Given the description of an element on the screen output the (x, y) to click on. 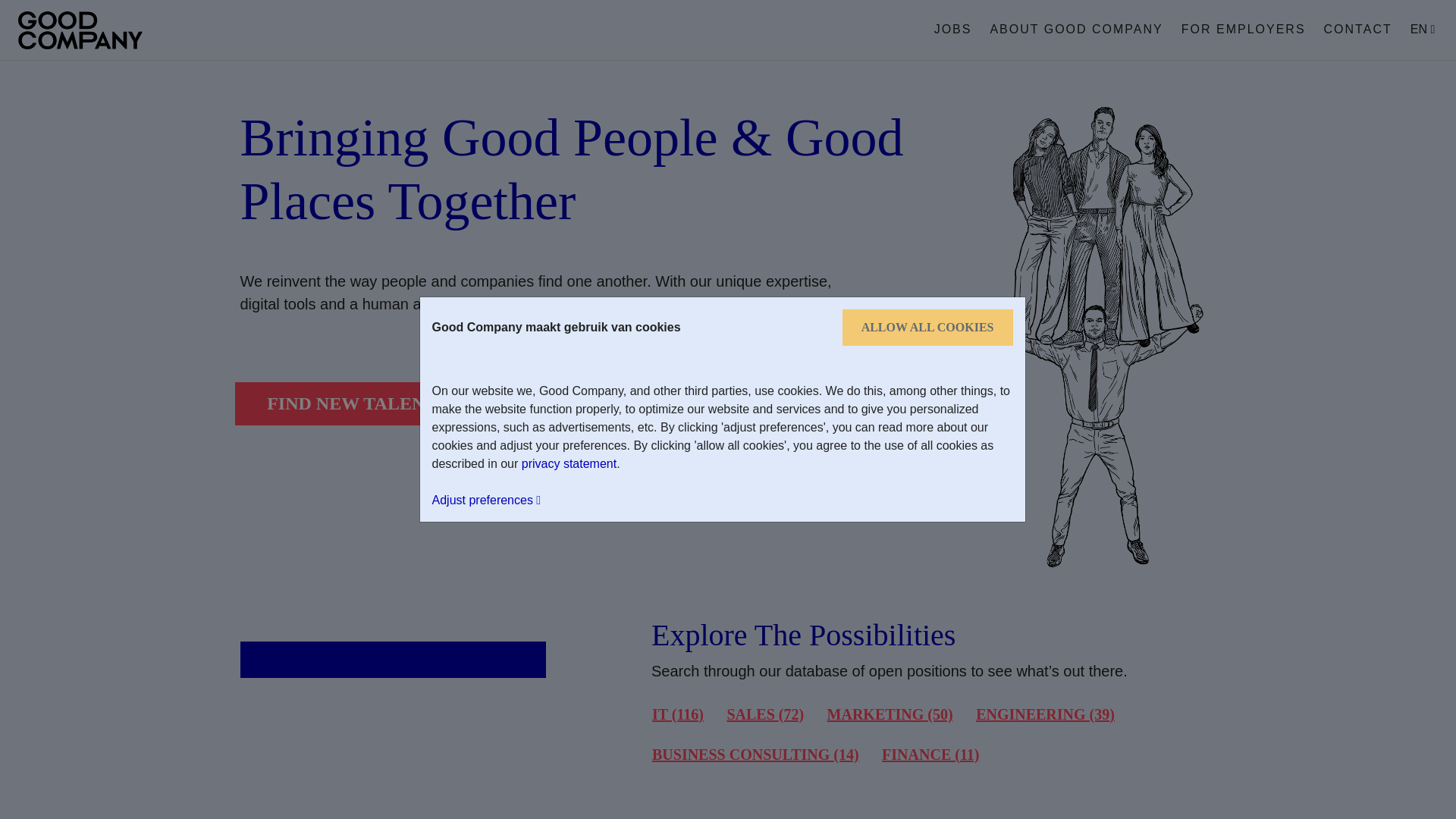
Contact (1357, 29)
FOR EMPLOYERS (1243, 29)
FIND NEW TALENT (351, 403)
For Employers (1243, 29)
Jobs (953, 29)
About Good Company (1075, 29)
ABOUT GOOD COMPANY (1075, 29)
JOBS (953, 29)
FIND VACANCIES (598, 403)
CONTACT (1357, 29)
